Given the description of an element on the screen output the (x, y) to click on. 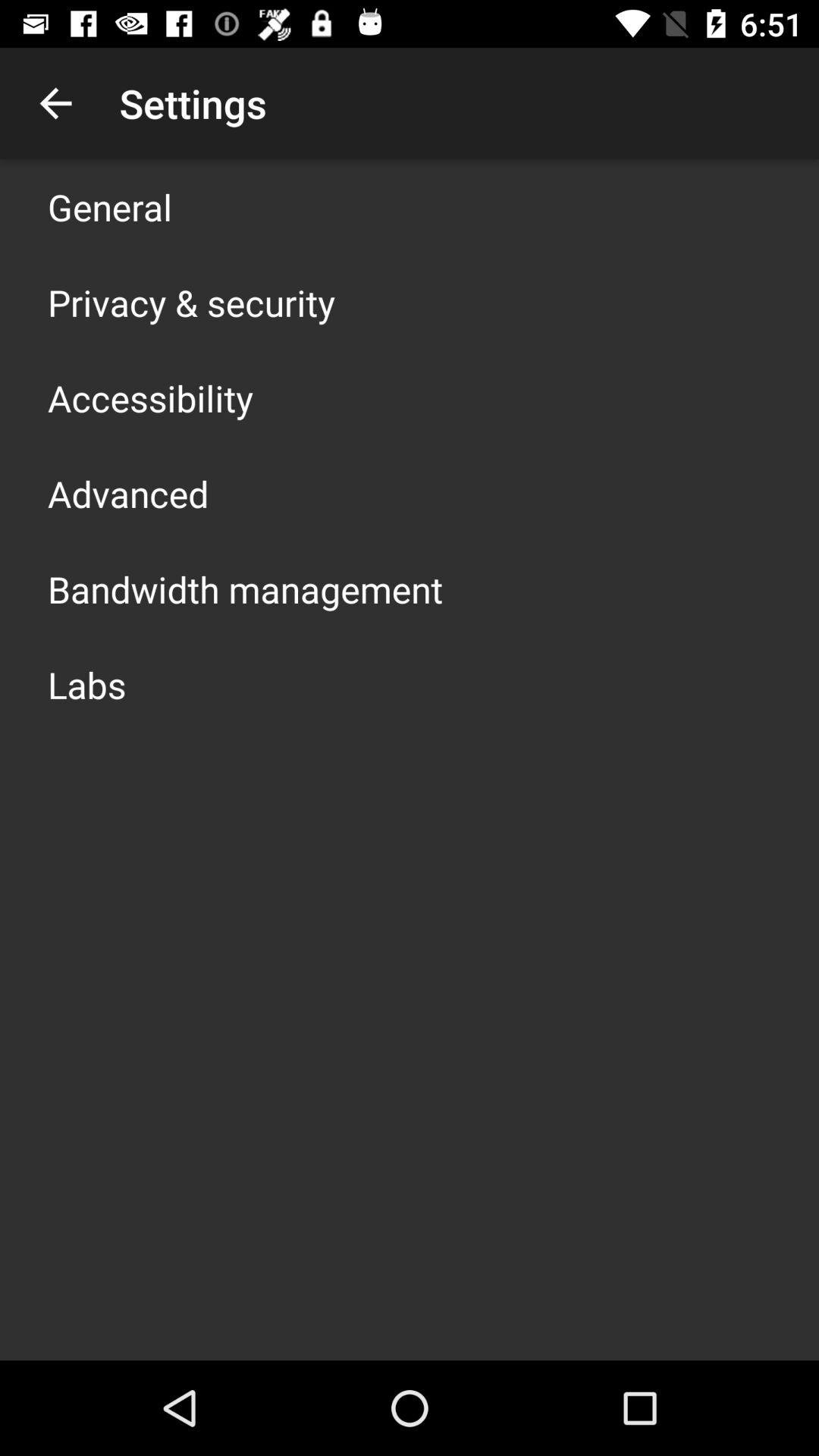
click the icon to the left of the settings (55, 103)
